Given the description of an element on the screen output the (x, y) to click on. 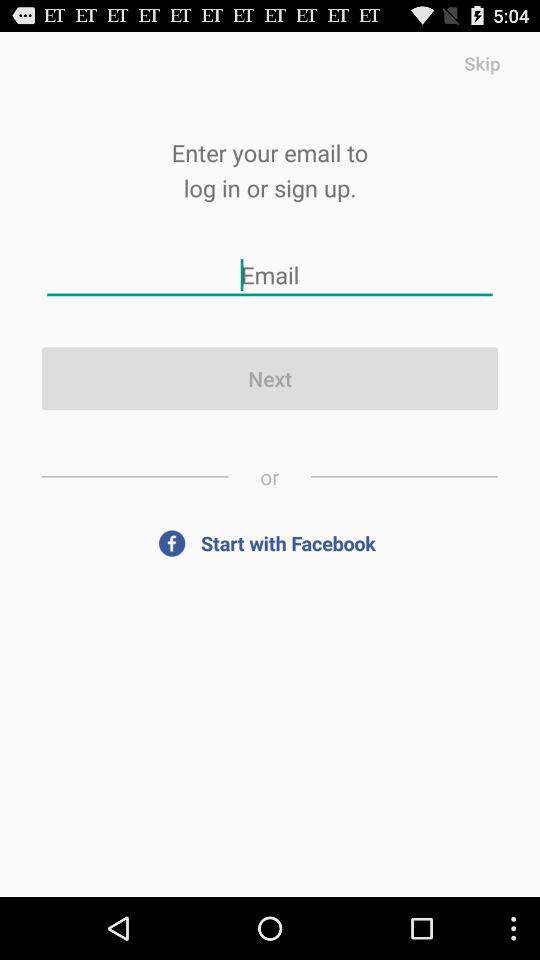
press item above enter your email item (482, 62)
